Given the description of an element on the screen output the (x, y) to click on. 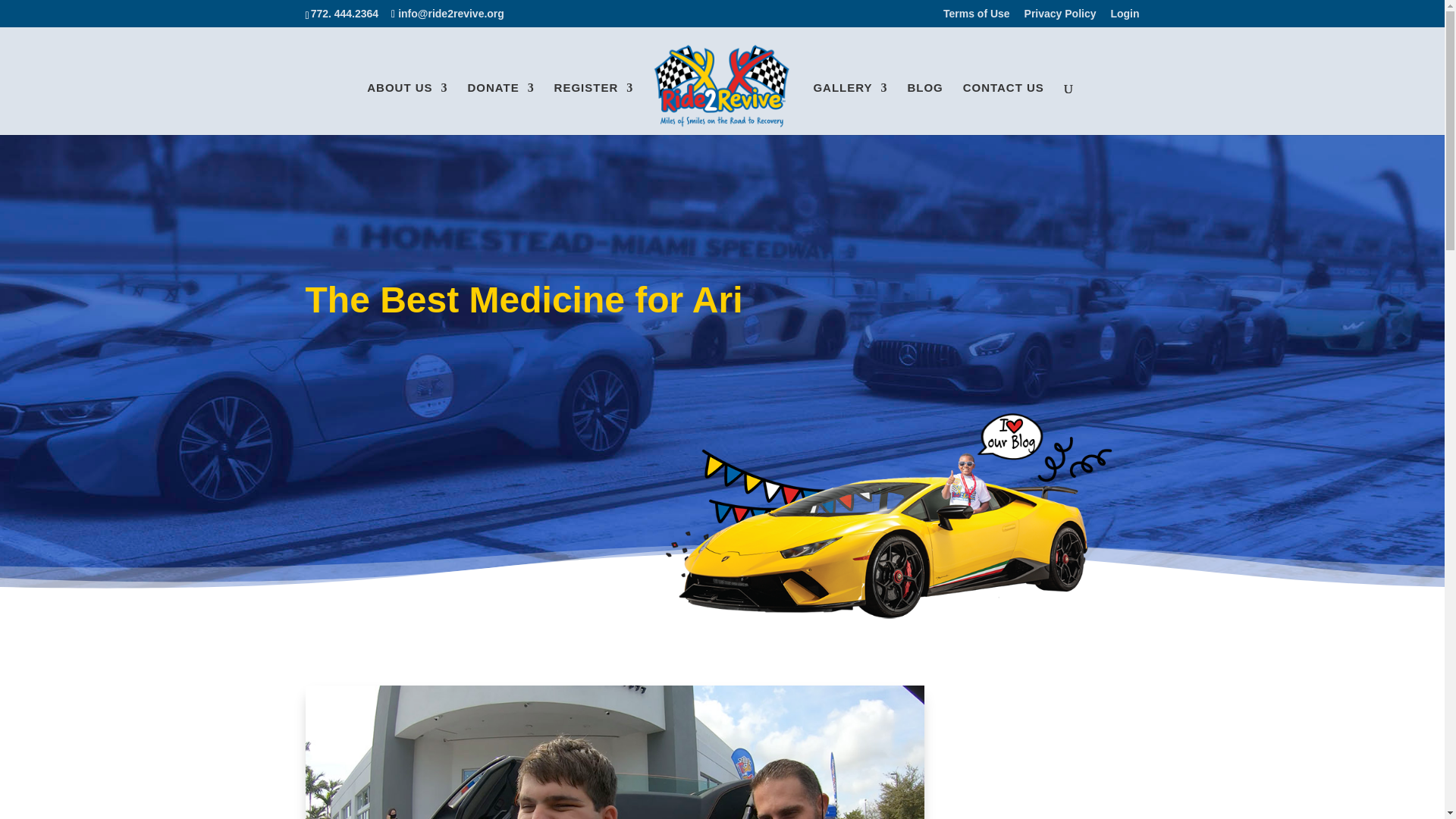
ABOUT US (406, 108)
CONTACT US (1002, 108)
GALLERY (849, 108)
Login (1123, 16)
Terms of Use (976, 16)
REGISTER (593, 108)
R2R CAR DOODLES-POSTS 2 (887, 512)
DONATE (500, 108)
The Best Medicine for Ari (614, 752)
Privacy Policy (1060, 16)
